Given the description of an element on the screen output the (x, y) to click on. 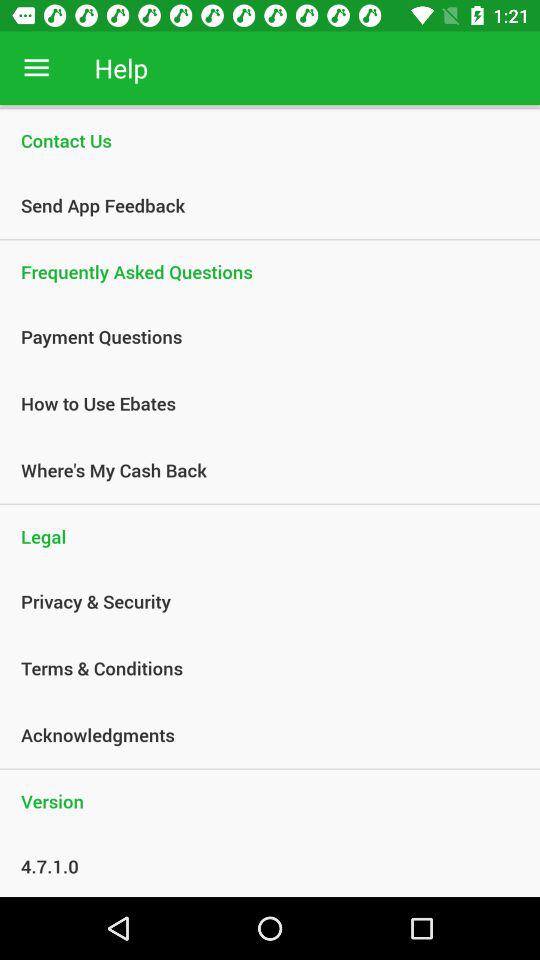
select the icon below payment questions (259, 403)
